Given the description of an element on the screen output the (x, y) to click on. 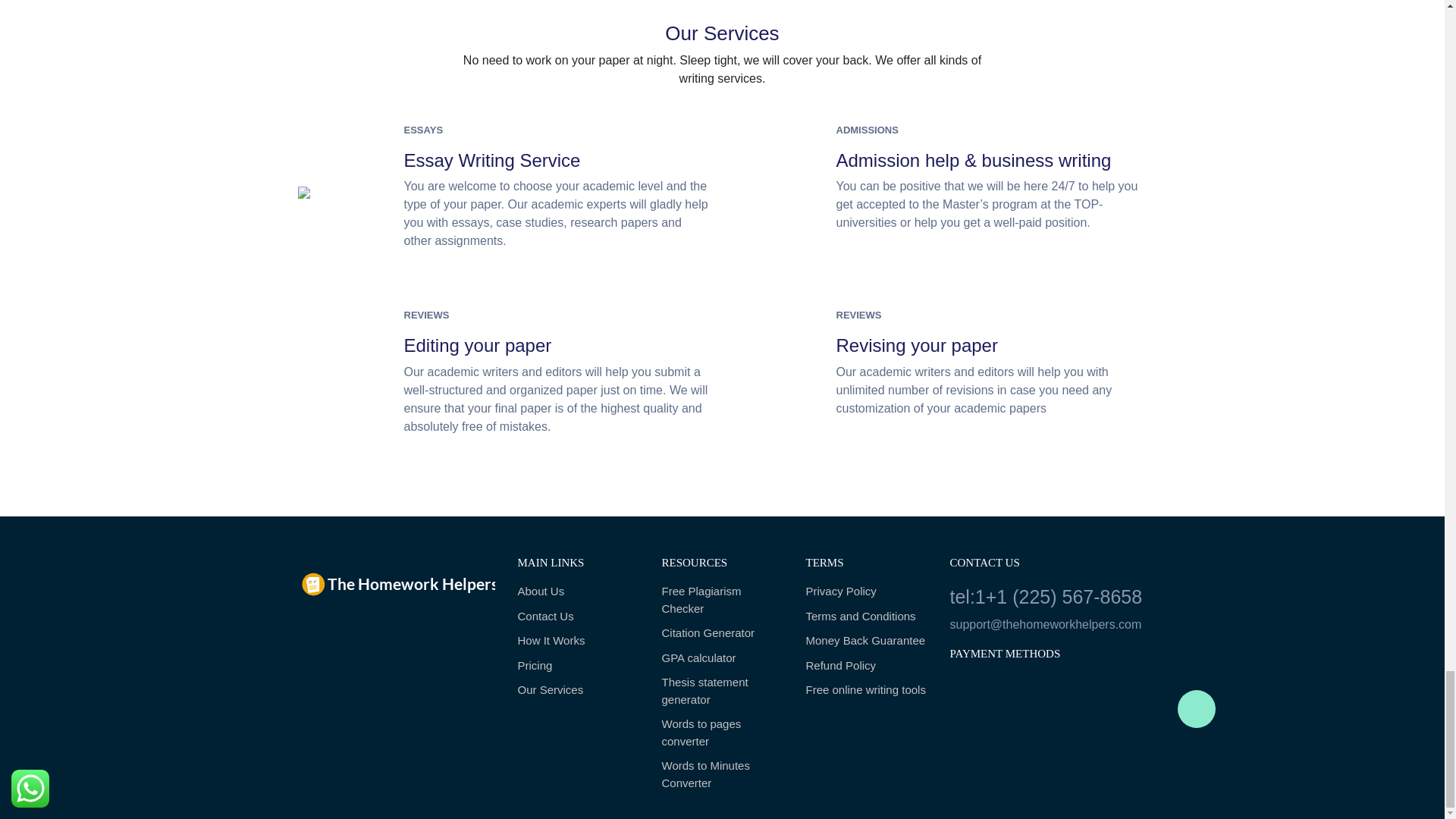
GPA calculator (722, 658)
Thesis statement generator (722, 691)
Contact Us (577, 616)
Privacy Policy (865, 591)
About Us (577, 591)
Terms and Conditions (865, 616)
Our Services (577, 690)
Free Plagiarism Checker (722, 600)
Words to Minutes Converter (722, 774)
How It Works (577, 641)
